Given the description of an element on the screen output the (x, y) to click on. 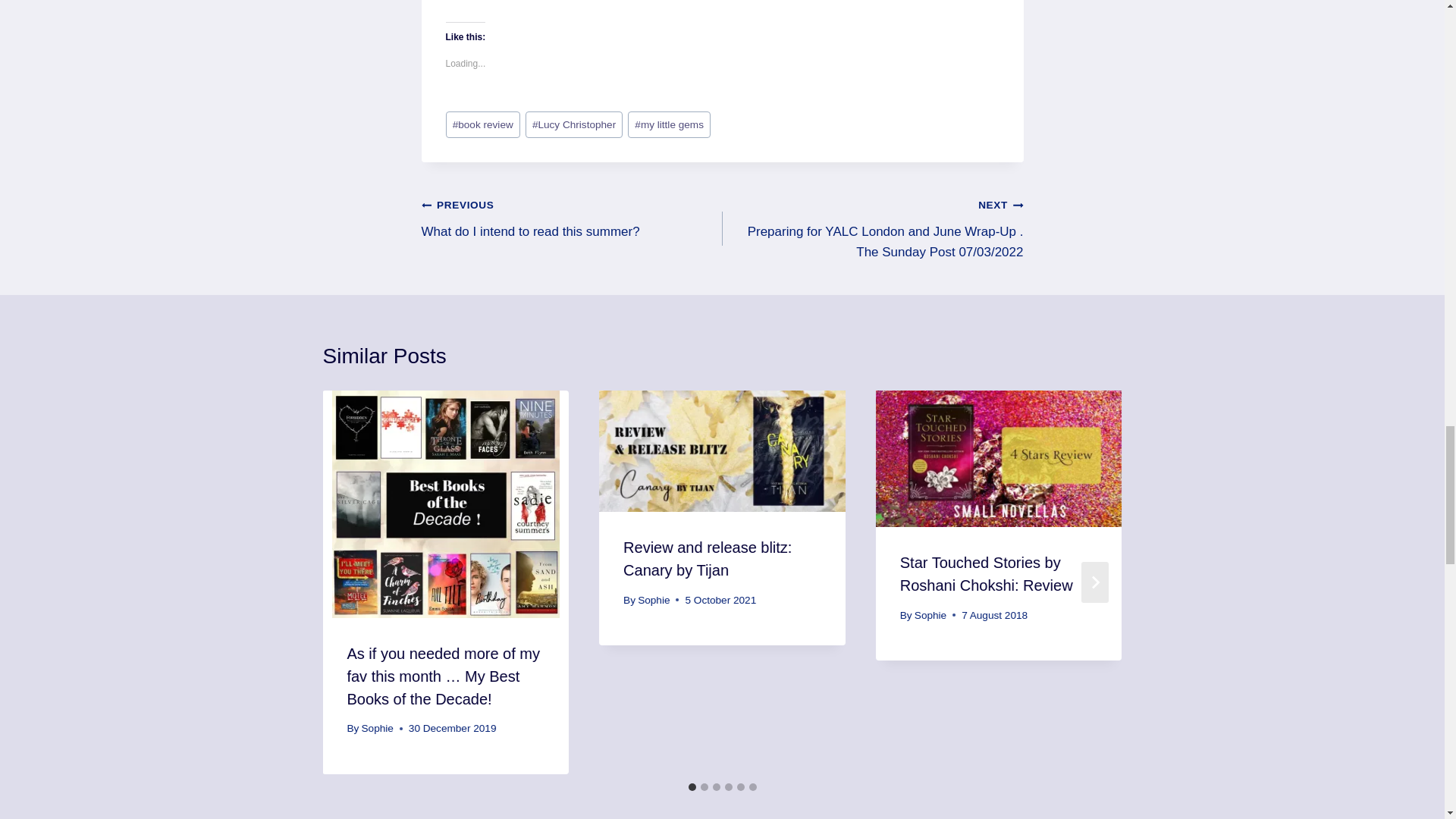
book review (482, 124)
Lucy Christopher (574, 124)
my little gems (668, 124)
